Given the description of an element on the screen output the (x, y) to click on. 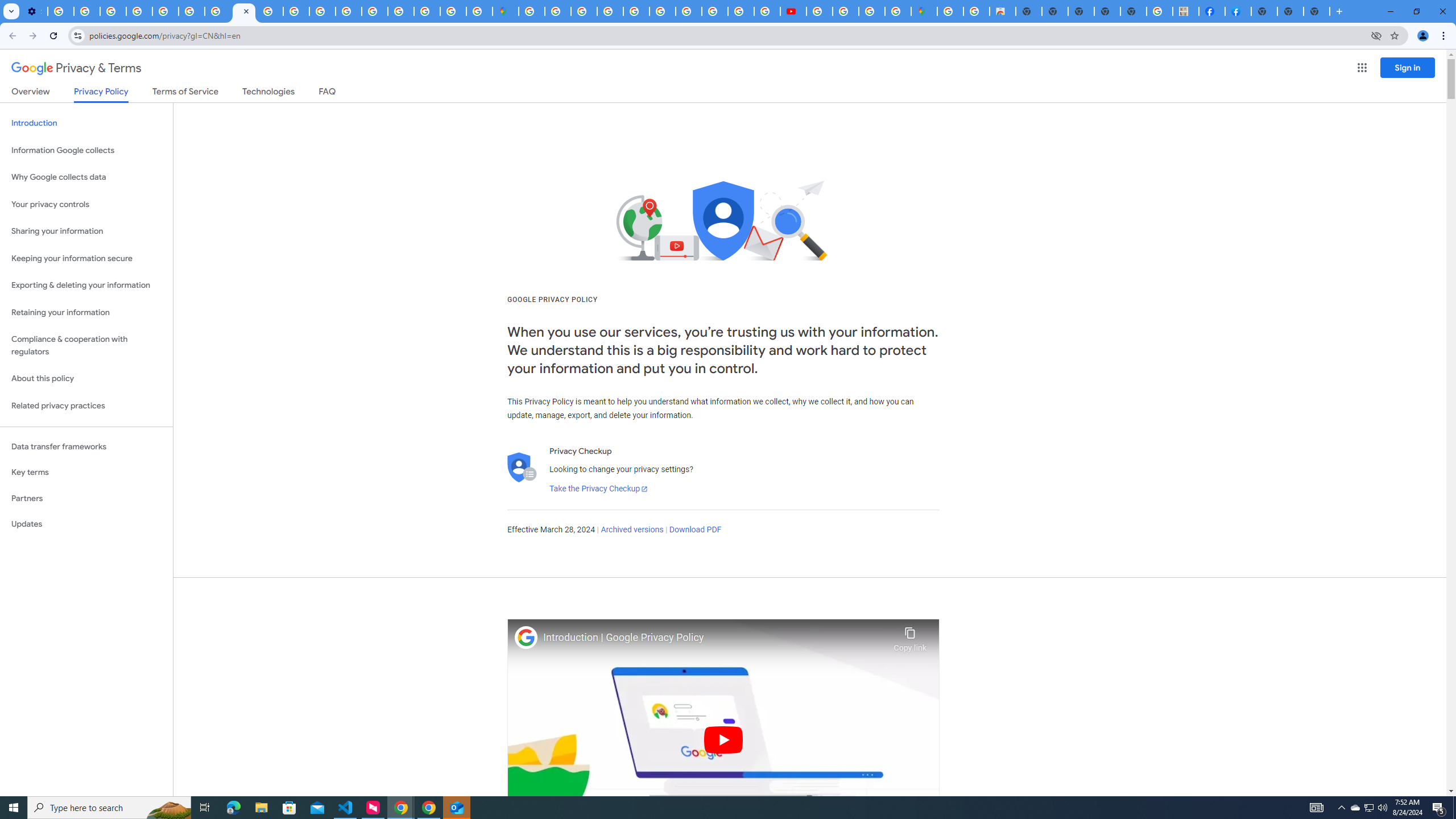
How Chrome protects your passwords - Google Chrome Help (818, 11)
Copy link (909, 636)
Why Google collects data (86, 176)
Privacy Help Center - Policies Help (715, 11)
Retaining your information (86, 312)
Sign in - Google Accounts (558, 11)
Sign in - Google Accounts (531, 11)
